Given the description of an element on the screen output the (x, y) to click on. 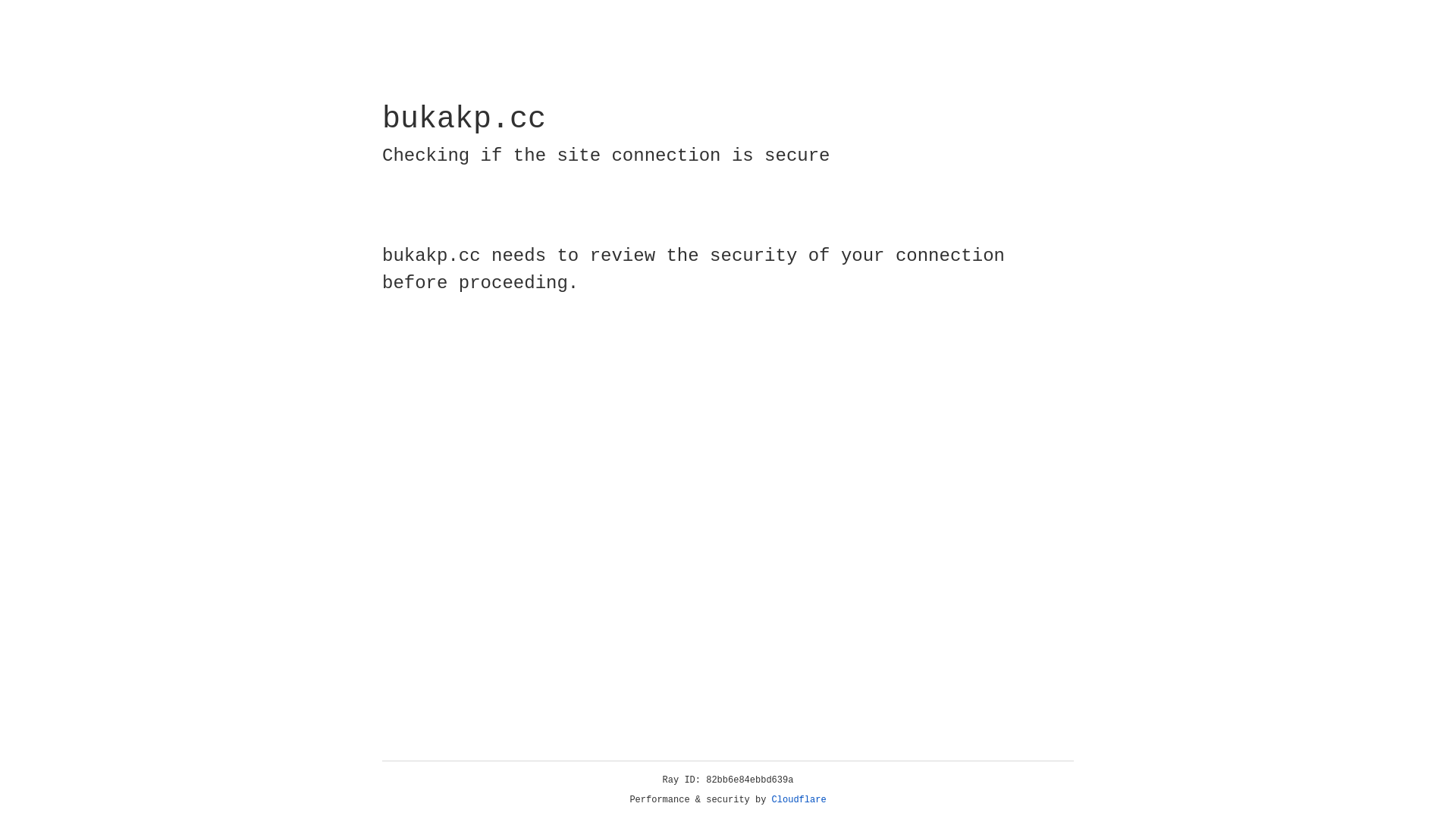
Cloudflare Element type: text (798, 799)
